Given the description of an element on the screen output the (x, y) to click on. 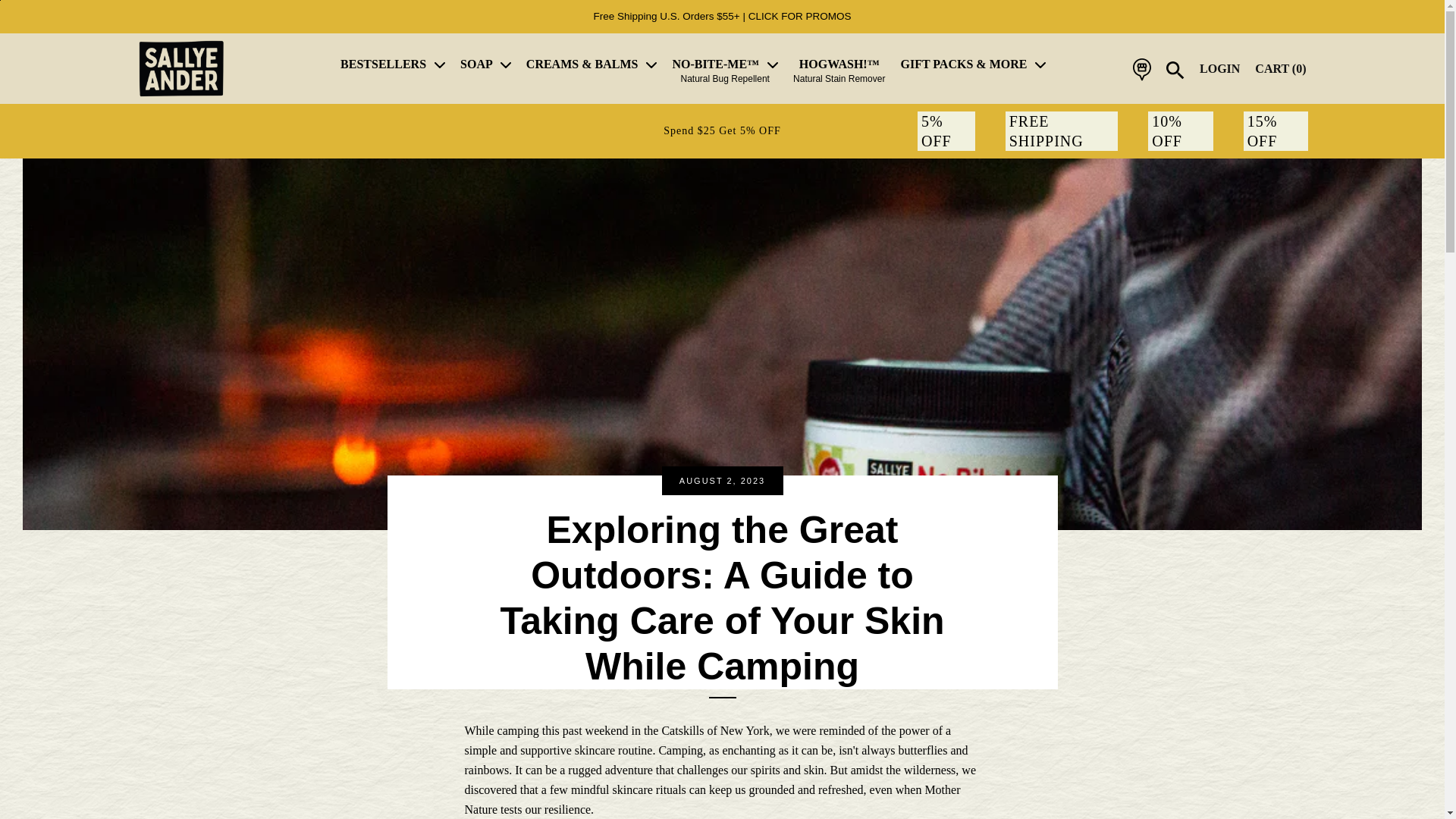
LOGIN (1219, 68)
SEARCH (1175, 70)
STORE LOCATOR (1141, 76)
